Given the description of an element on the screen output the (x, y) to click on. 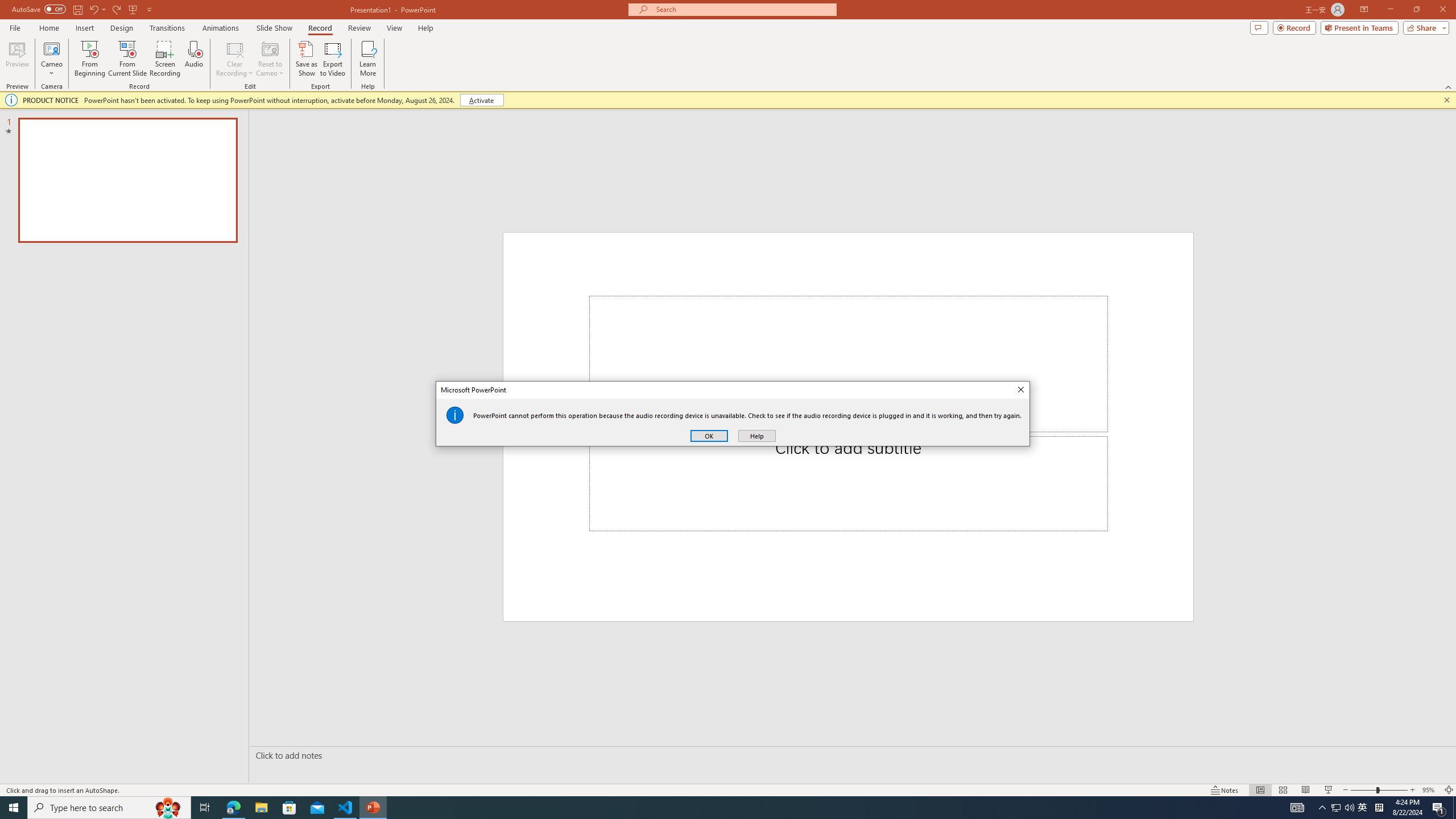
Activate (481, 100)
OK (709, 435)
